Given the description of an element on the screen output the (x, y) to click on. 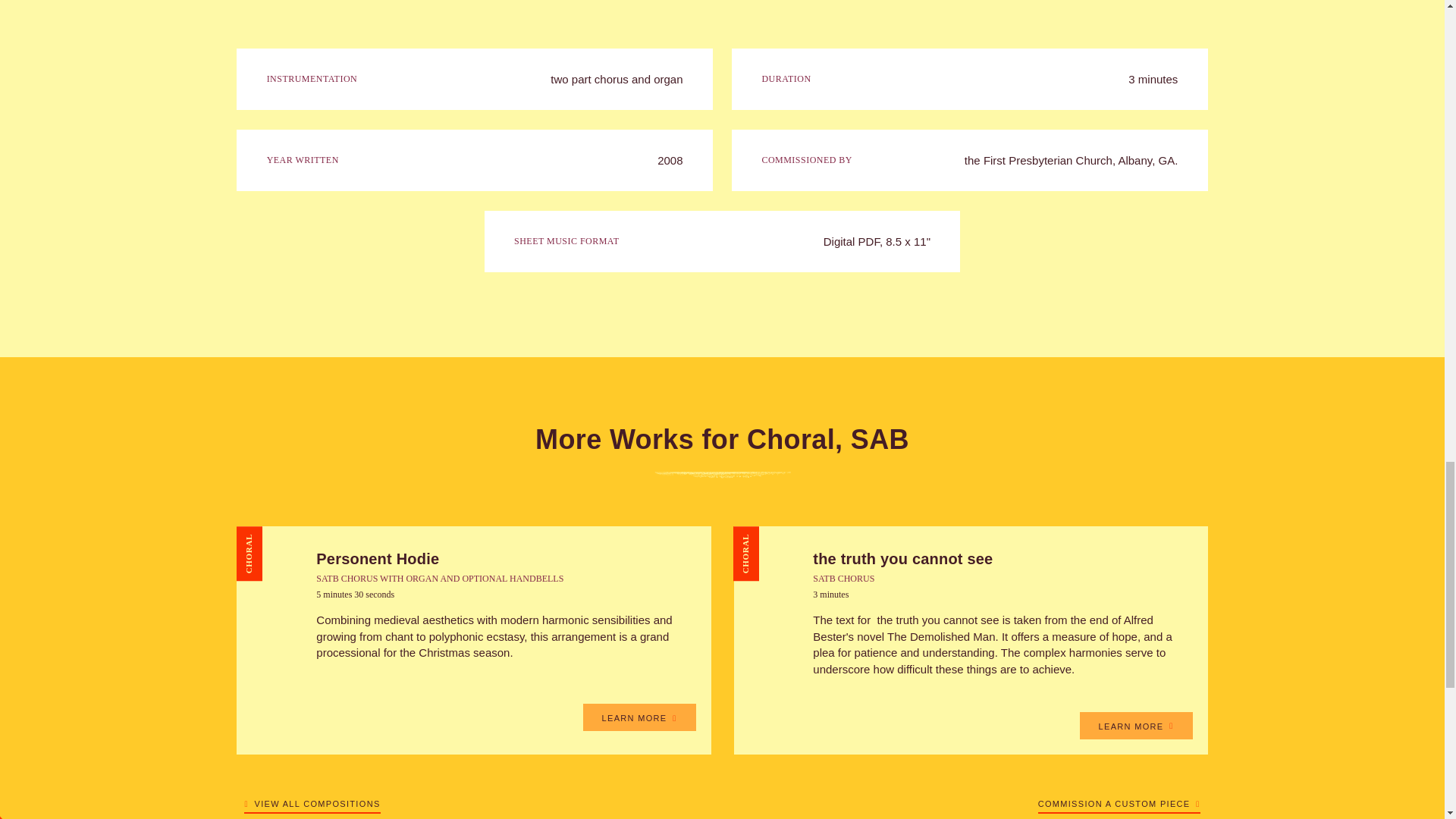
LEARN MORE (1136, 725)
COMMISSION A CUSTOM PIECE (1118, 801)
VIEW ALL COMPOSITIONS (312, 801)
divider-sm-light (721, 475)
footer-triangles (113, 815)
LEARN MORE (639, 717)
